Given the description of an element on the screen output the (x, y) to click on. 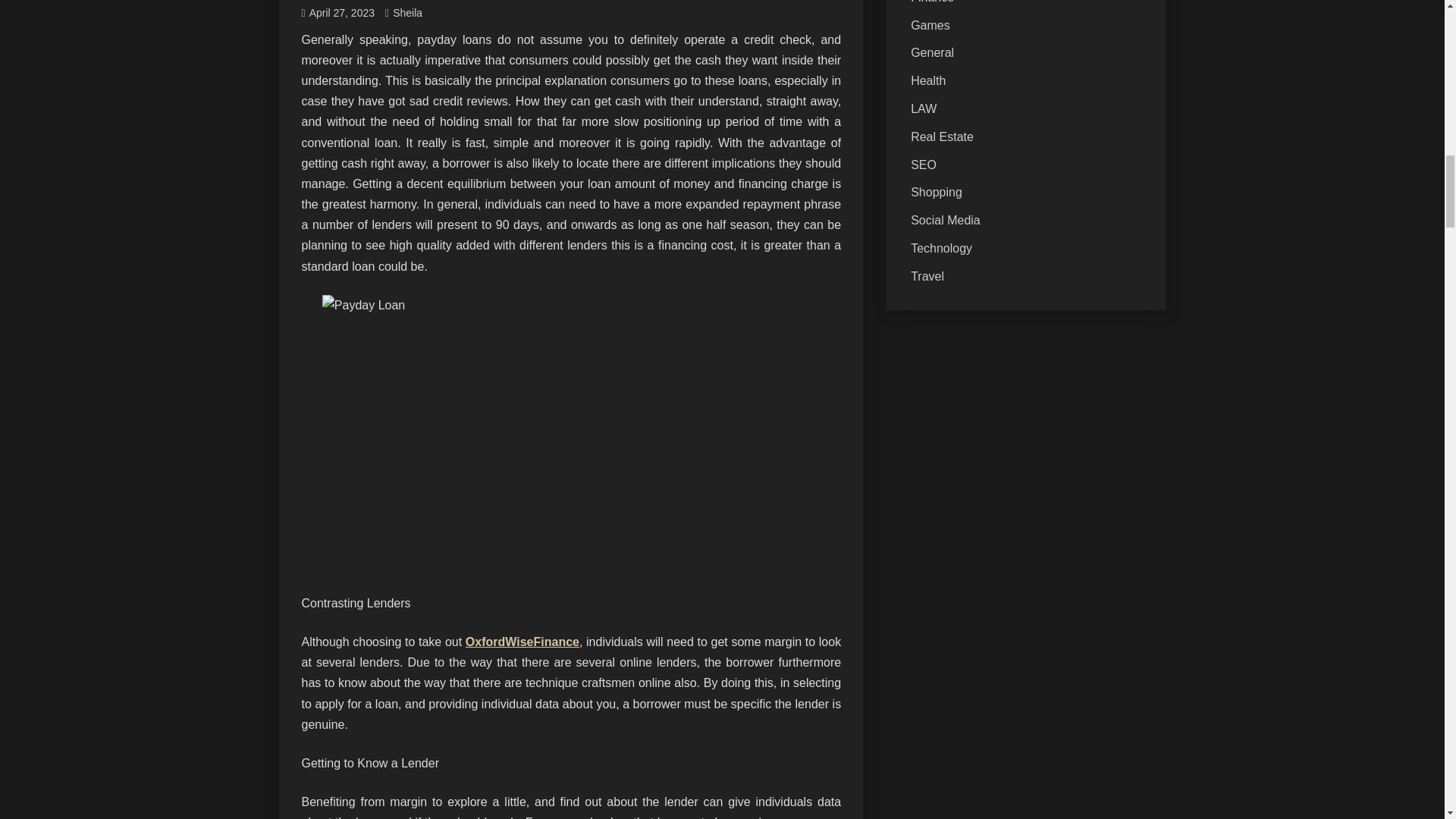
Sheila (407, 12)
April 27, 2023 (341, 12)
OxfordWiseFinance (522, 641)
